Given the description of an element on the screen output the (x, y) to click on. 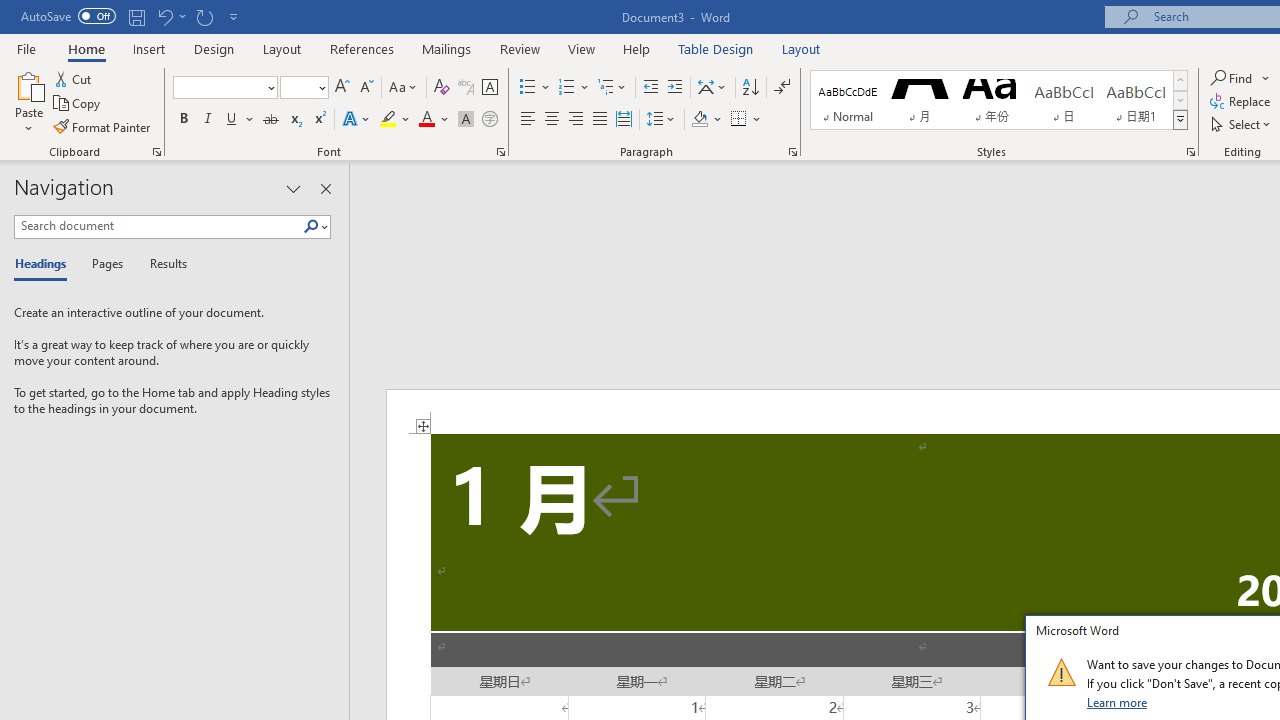
Undo Apply Quick Style (164, 15)
Text Highlight Color (395, 119)
Decrease Indent (650, 87)
Text Highlight Color Yellow (388, 119)
Change Case (404, 87)
Shrink Font (365, 87)
Office Clipboard... (156, 151)
